Given the description of an element on the screen output the (x, y) to click on. 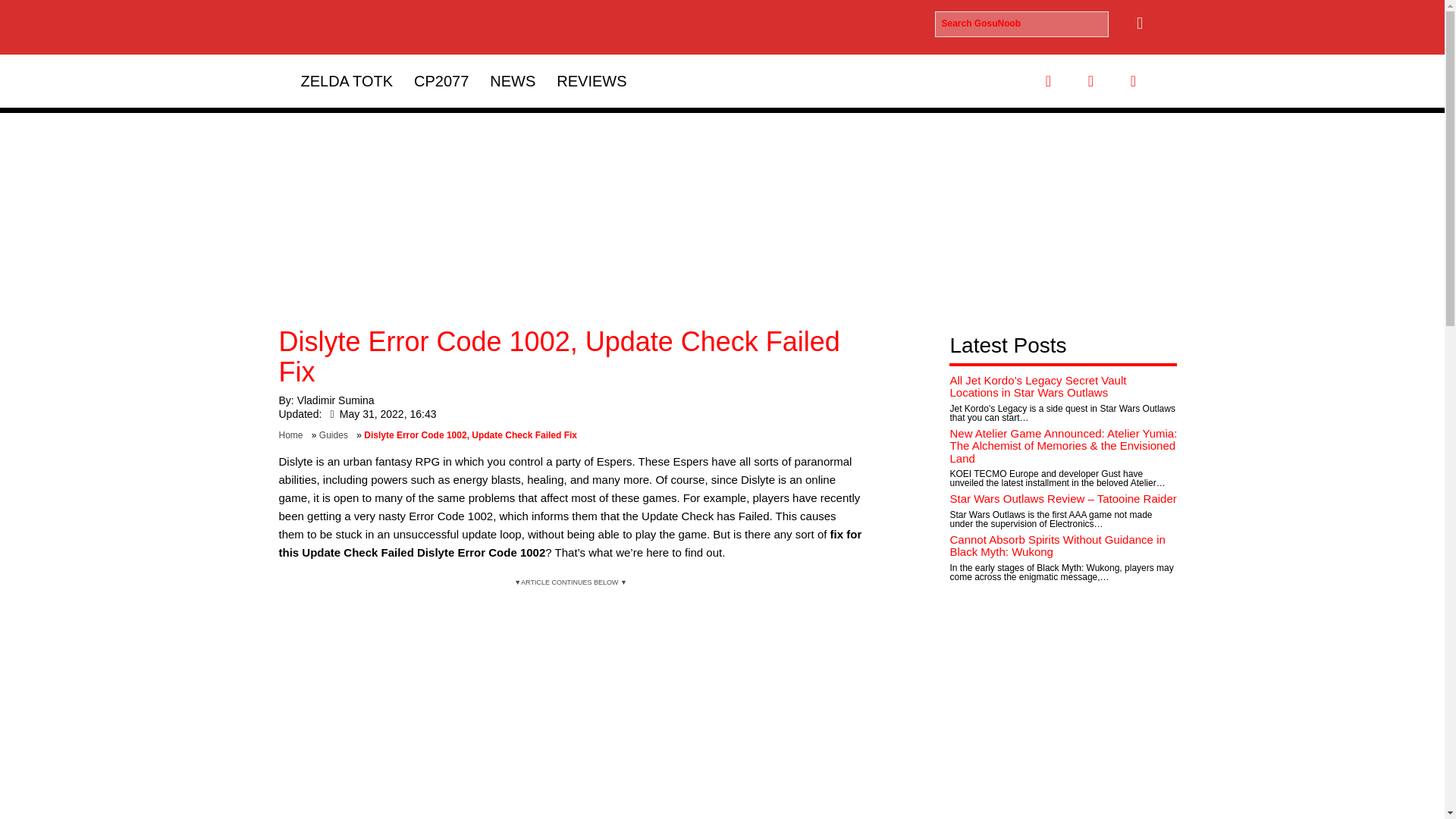
Home (293, 434)
Cannot Absorb Spirits Without Guidance in Black Myth: Wukong (1056, 545)
Cyberpunk 2077 (441, 80)
Vladimir Sumina (335, 399)
REVIEWS (591, 80)
ZELDA TOTK (346, 80)
CP2077 (441, 80)
NEWS (512, 80)
Cannot Absorb Spirits Without Guidance in Black Myth: Wukong (1056, 545)
Guides (335, 434)
